Given the description of an element on the screen output the (x, y) to click on. 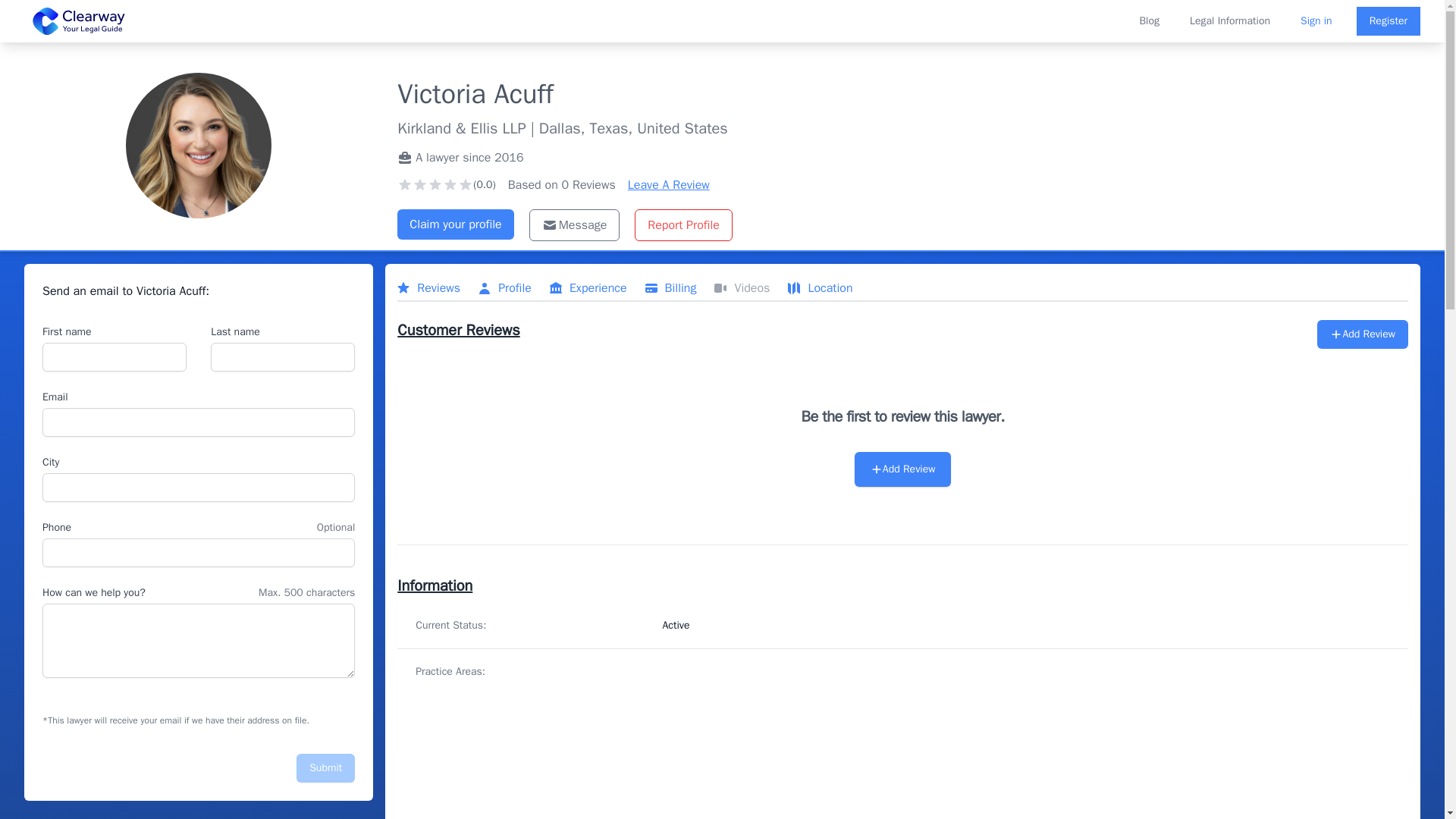
Clearway (78, 21)
Message (574, 224)
Leave A Review (668, 185)
Profile (505, 288)
Location (819, 288)
Experience (588, 288)
Add Review (903, 469)
Claim your profile (455, 224)
Reviews (428, 288)
Billing (671, 288)
Blog (1148, 20)
Report Profile (683, 224)
Legal Information (1229, 20)
Sign in (1316, 20)
Submit (326, 767)
